Given the description of an element on the screen output the (x, y) to click on. 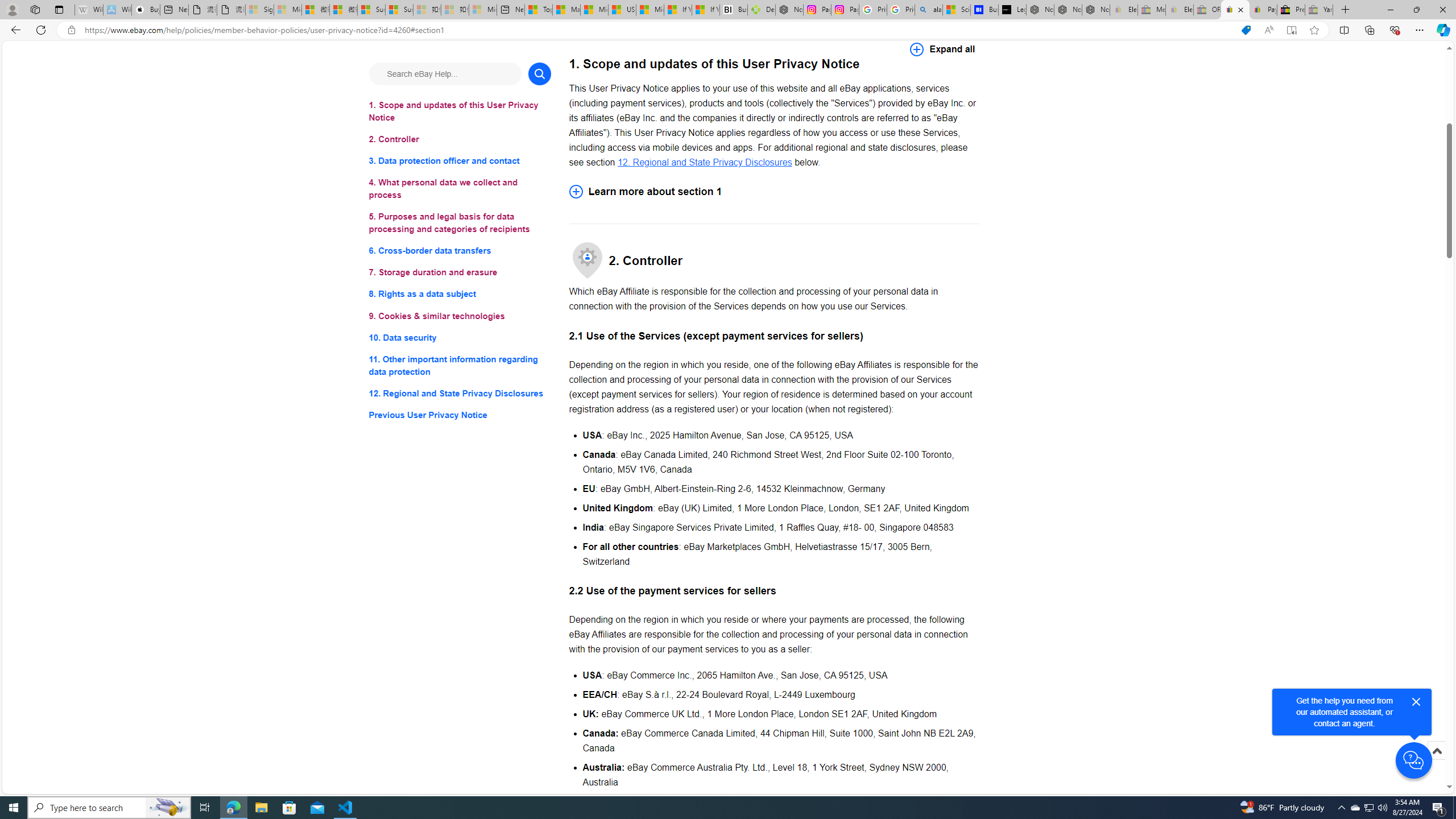
alabama high school quarterback dies - Search (928, 9)
1. Scope and updates of this User Privacy Notice (459, 111)
6. Cross-border data transfers (459, 250)
8. Rights as a data subject (459, 293)
